Given the description of an element on the screen output the (x, y) to click on. 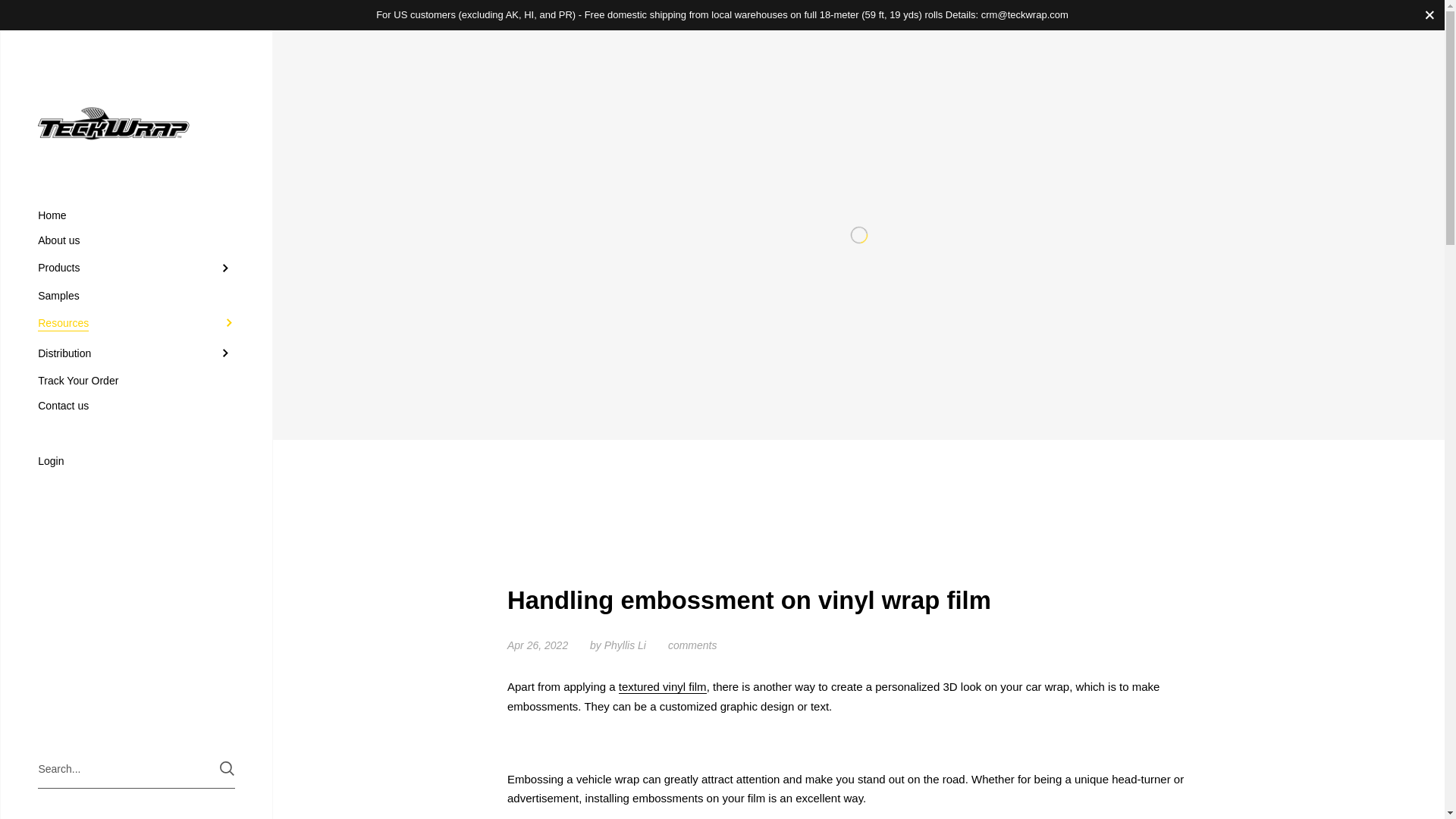
Samples (136, 295)
premium structure vinyl film (662, 686)
Home (136, 215)
Resources (136, 322)
Products (136, 268)
Distribution (136, 353)
About us (136, 240)
